Given the description of an element on the screen output the (x, y) to click on. 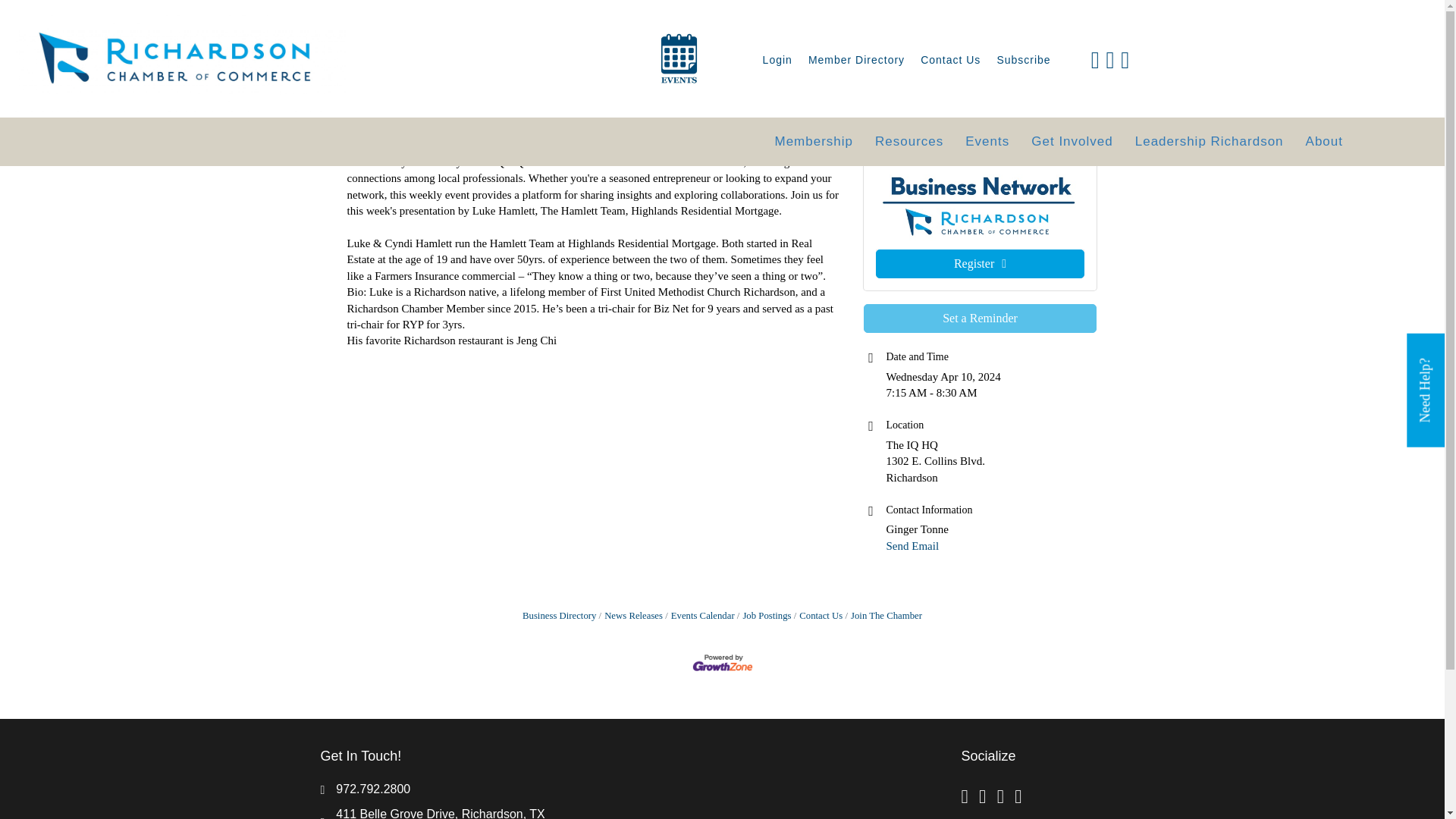
Resources (908, 141)
Membership (812, 141)
Get Involved (1071, 141)
Login (777, 60)
RichardsonChamberLogo2022-OL-05 (180, 58)
calendar icon B (678, 58)
Contact Us (950, 60)
Subscribe (1023, 60)
Member Directory (856, 60)
Events (987, 141)
